Given the description of an element on the screen output the (x, y) to click on. 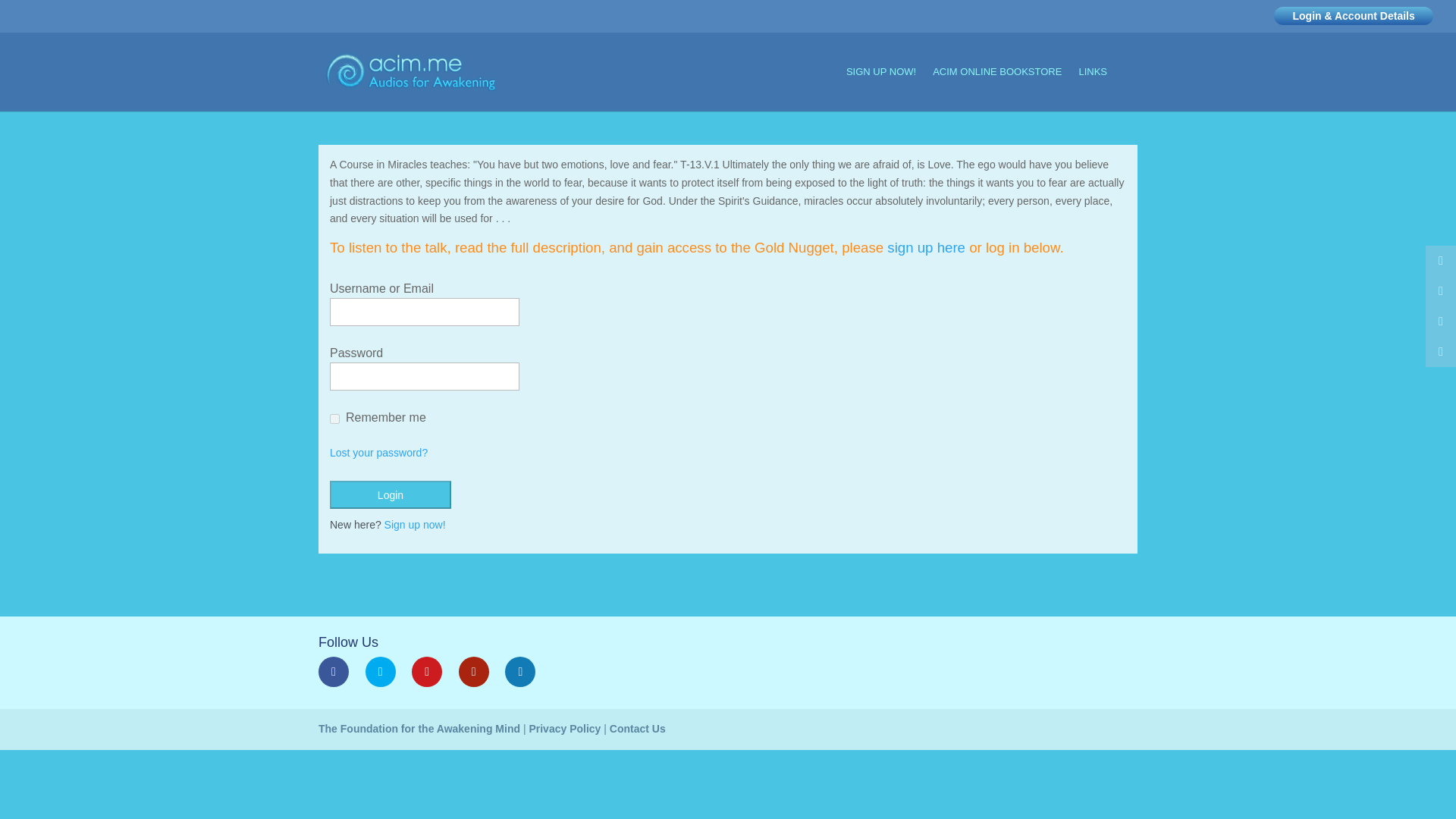
Lost your password? (379, 452)
Contact Us (637, 728)
sign up here (925, 247)
ACIM ONLINE BOOKSTORE (997, 88)
Sign up now! (414, 524)
Login (390, 494)
SIGN UP NOW! (880, 88)
The Foundation for the Awakening Mind (418, 728)
Privacy Policy (563, 728)
1 (334, 419)
